Given the description of an element on the screen output the (x, y) to click on. 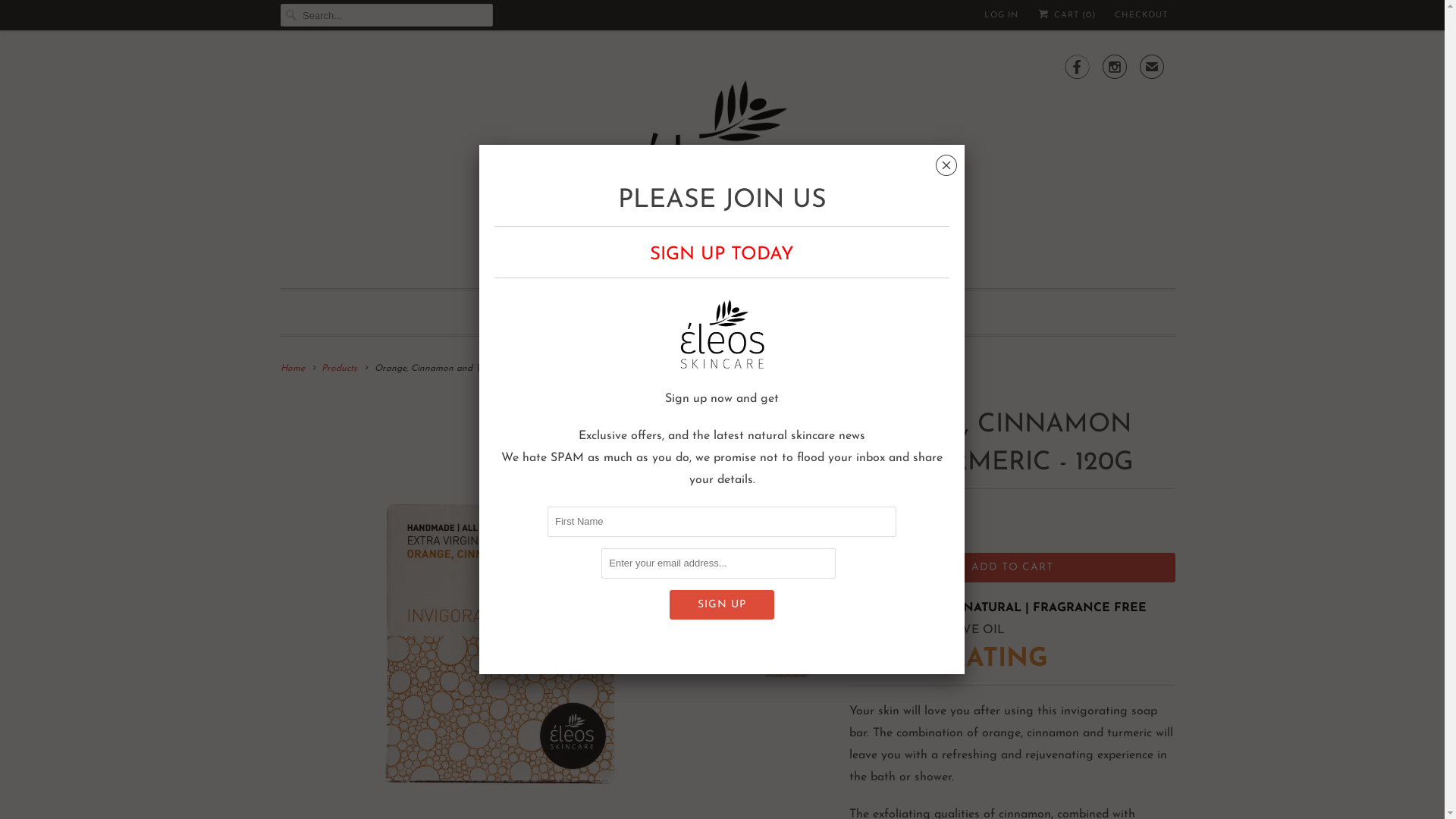
SHOP ONLINE Element type: text (672, 312)
Products Element type: text (339, 368)
Sign Up Element type: text (721, 604)
Eleos Skincare Element type: hover (727, 163)
BLOG Element type: text (778, 312)
ADD TO CART Element type: text (1012, 567)
HOME Element type: text (566, 312)
Home Element type: text (292, 368)
CHECKOUT Element type: text (1140, 15)
CART (0) Element type: text (1066, 14)
LOG IN Element type: text (1001, 15)
ABOUT US Element type: text (870, 312)
